Given the description of an element on the screen output the (x, y) to click on. 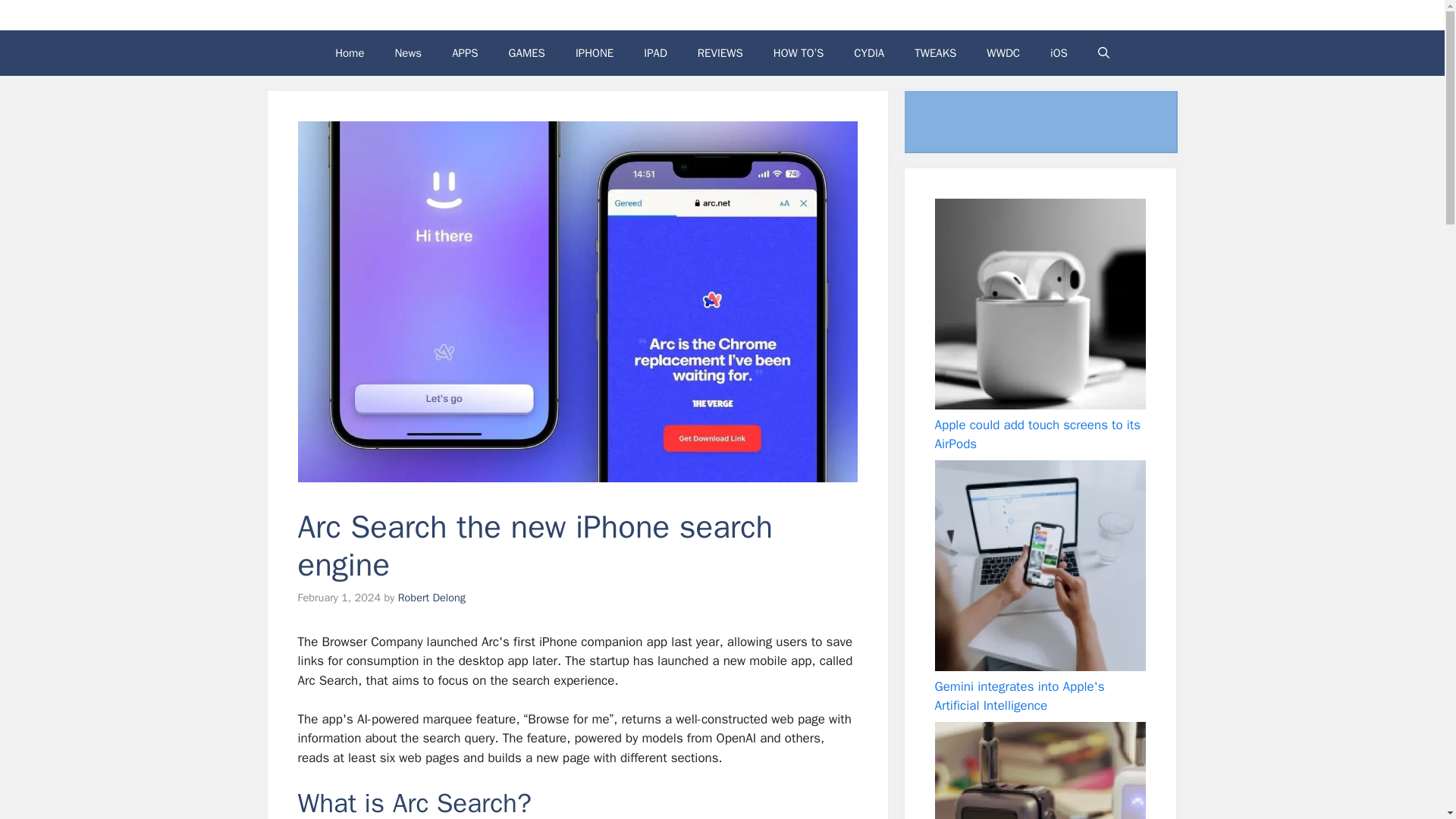
Home (349, 53)
GAMES (526, 53)
Gemini integrates into Apple's Artificial Intelligence (1039, 565)
WWDC (1003, 53)
TWEAKS (935, 53)
iOS (1059, 53)
UGREEN Nexode, powerful and super cute (1039, 770)
Apple could add touch screens to its AirPods (1037, 434)
REVIEWS (720, 53)
IPAD (655, 53)
Apple could add touch screens to its AirPods (1039, 304)
CYDIA (868, 53)
View all posts by Robert Delong (431, 597)
APPS (464, 53)
